Given the description of an element on the screen output the (x, y) to click on. 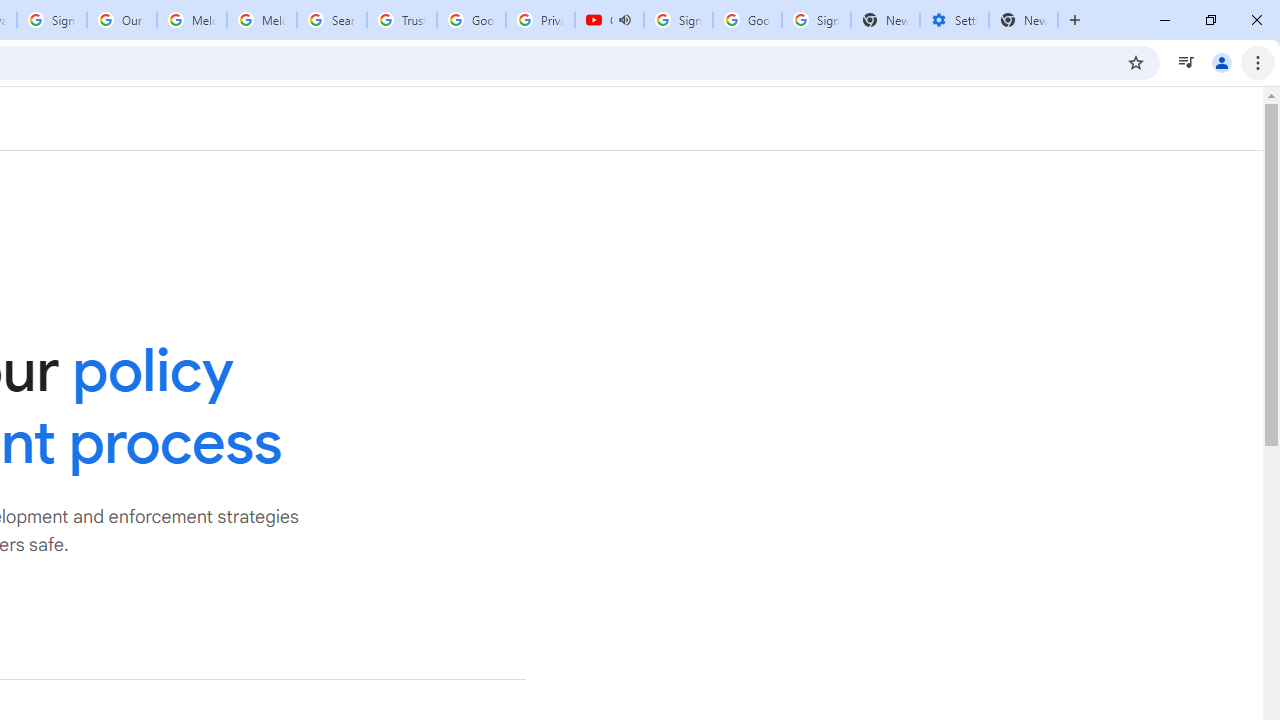
Search our Doodle Library Collection - Google Doodles (332, 20)
Google Cybersecurity Innovations - Google Safety Center (747, 20)
Sign in - Google Accounts (51, 20)
